Given the description of an element on the screen output the (x, y) to click on. 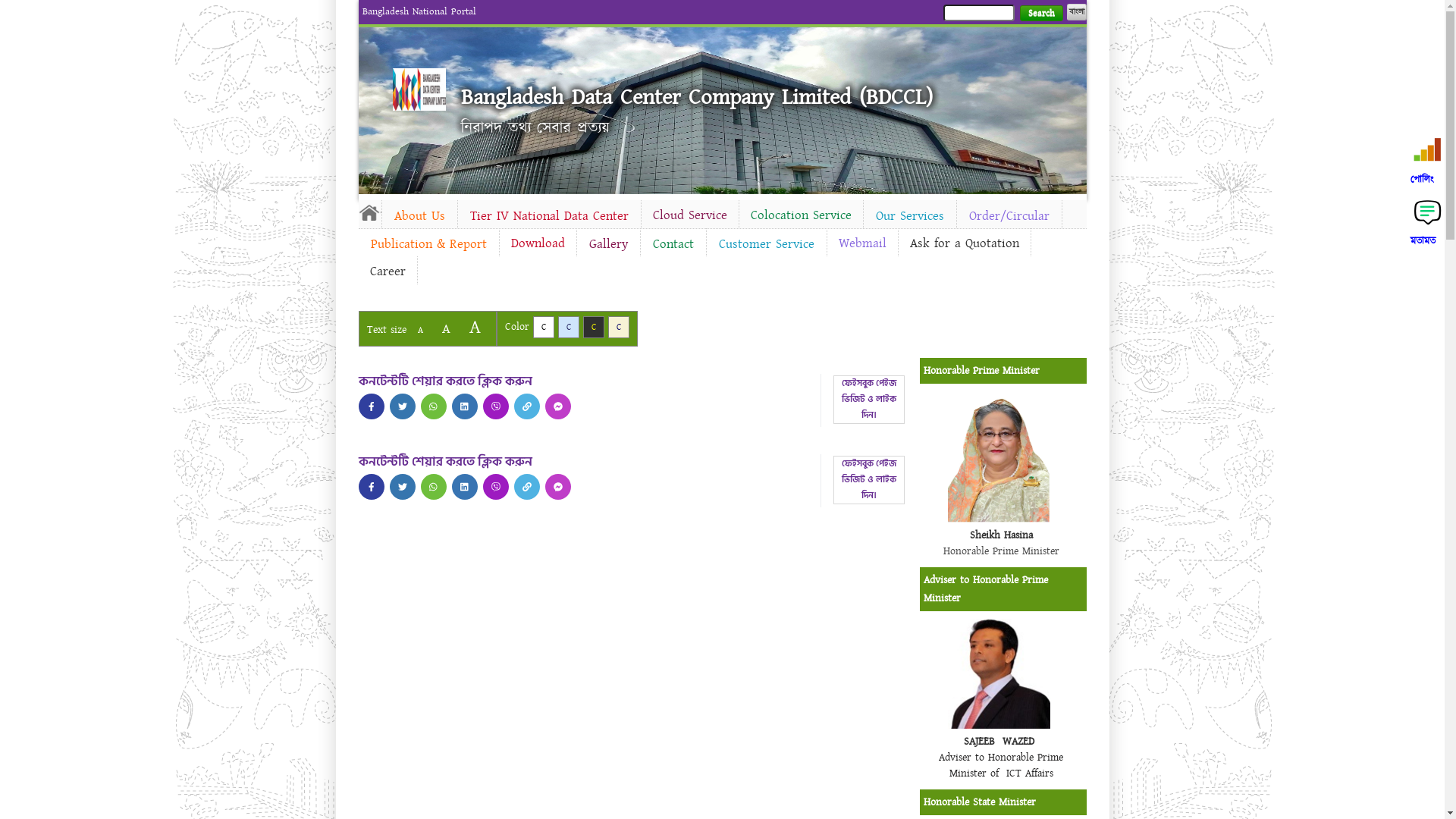
A Element type: text (474, 327)
Webmail Element type: text (861, 243)
Our Services Element type: text (908, 216)
Cloud Service Element type: text (689, 215)
Search Element type: text (1040, 13)
A Element type: text (445, 328)
Bangladesh National Portal Element type: text (419, 11)
Customer Service Element type: text (766, 244)
Order/Circular Element type: text (1009, 216)
C Element type: text (592, 327)
Publication & Report Element type: text (427, 244)
Tier IV National Data Center Element type: text (549, 216)
C Element type: text (568, 327)
Download Element type: text (536, 243)
C Element type: text (618, 327)
Ask for a Quotation Element type: text (963, 243)
Colocation Service Element type: text (800, 215)
Home Element type: hover (368, 211)
Career Element type: text (386, 271)
Home Element type: hover (418, 89)
Gallery Element type: text (607, 244)
About Us Element type: text (419, 216)
Bangladesh Data Center Company Limited (BDCCL) Element type: text (696, 96)
A Element type: text (419, 330)
C Element type: text (542, 327)
Contact Element type: text (672, 244)
